Given the description of an element on the screen output the (x, y) to click on. 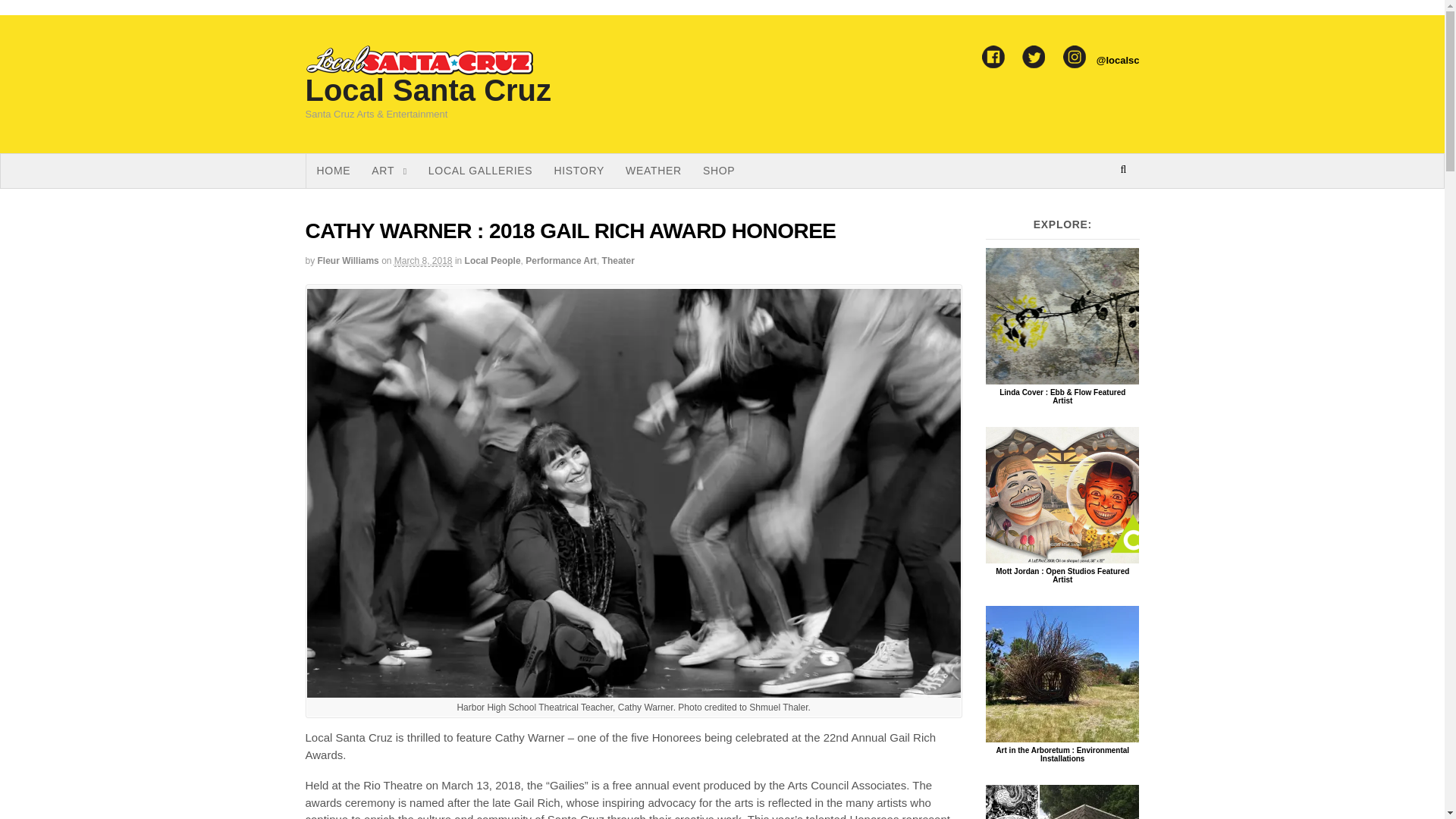
Local People (492, 260)
Posts by Fleur Williams (347, 260)
View all items in Local People (492, 260)
Performance Art (560, 260)
View all items in Theater (618, 260)
Fleur Williams (347, 260)
Search (1125, 207)
2018-03-08T17:00:06-0800 (423, 260)
WEATHER (653, 170)
HISTORY (578, 170)
SHOP (719, 170)
LOCAL GALLERIES (480, 170)
Local Santa Cruz (427, 90)
HOME (333, 170)
Theater (618, 260)
